Given the description of an element on the screen output the (x, y) to click on. 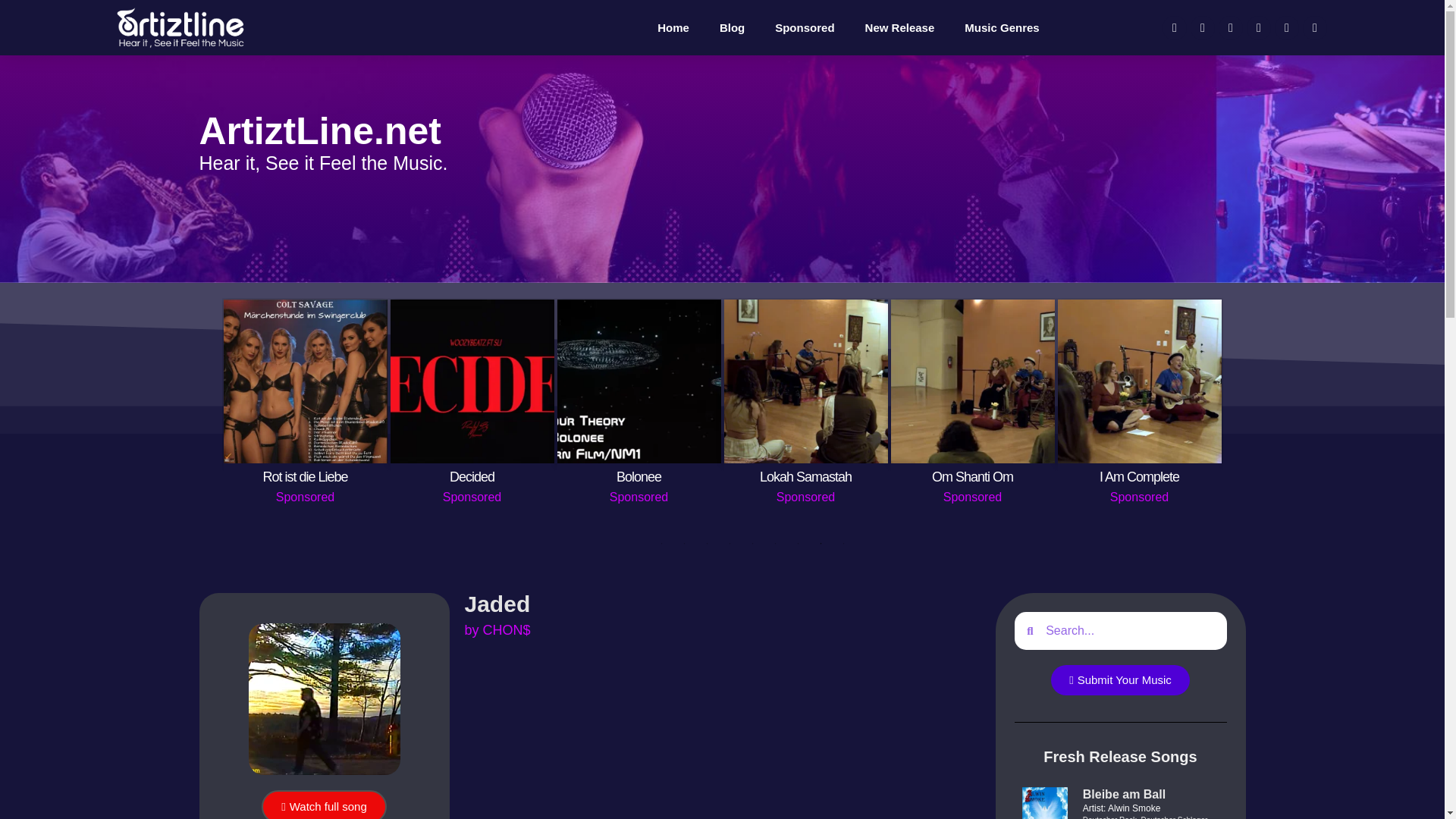
Blog (732, 27)
New Release (900, 27)
Music Genres (1001, 27)
Home (673, 27)
Sponsored (804, 27)
